Given the description of an element on the screen output the (x, y) to click on. 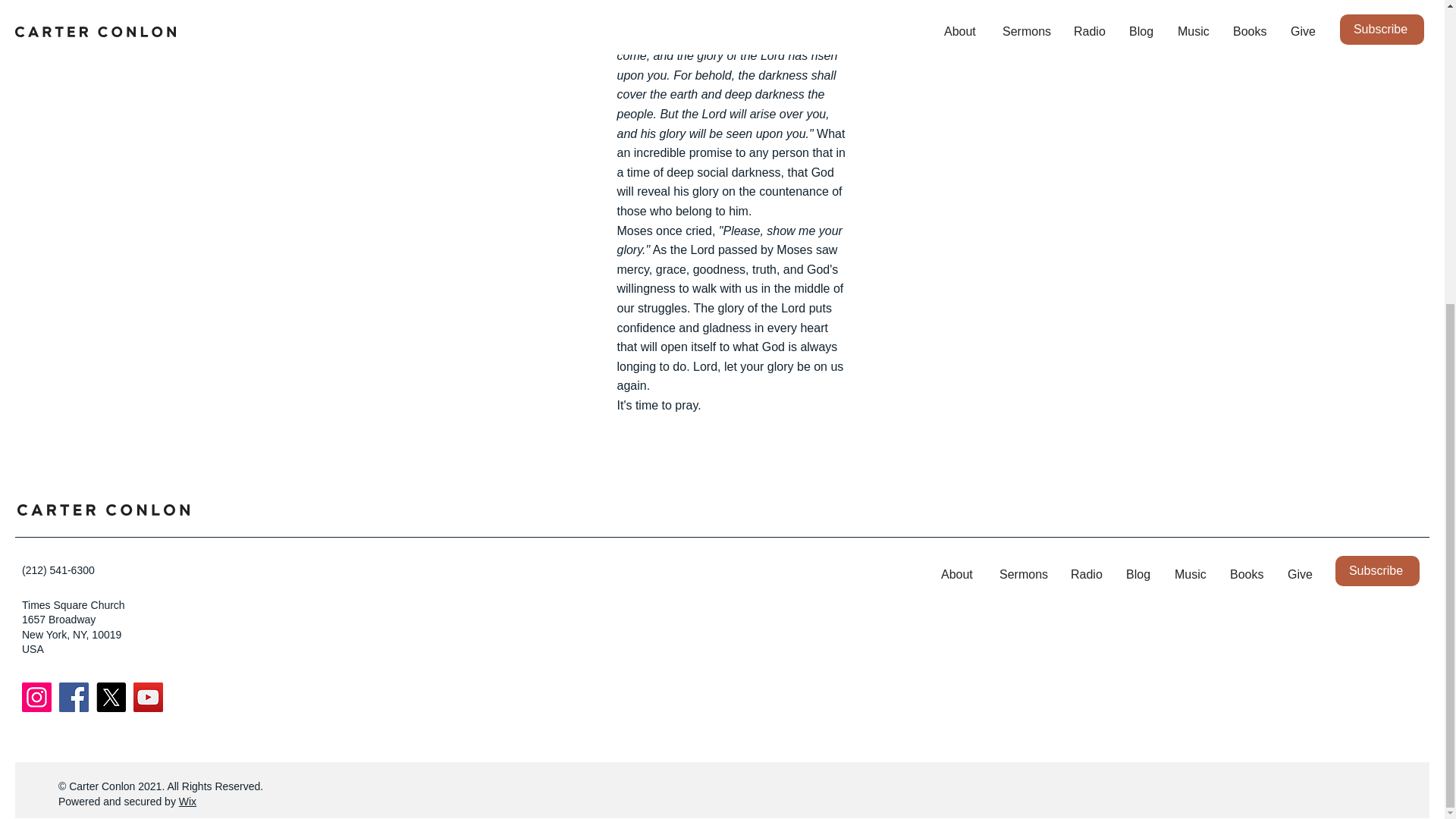
Music (1190, 574)
Radio (1087, 574)
Books (1247, 574)
About (959, 574)
Wix (187, 801)
Subscribe (1377, 571)
Sermons (1023, 574)
Blog (1139, 574)
Give (1299, 574)
